Given the description of an element on the screen output the (x, y) to click on. 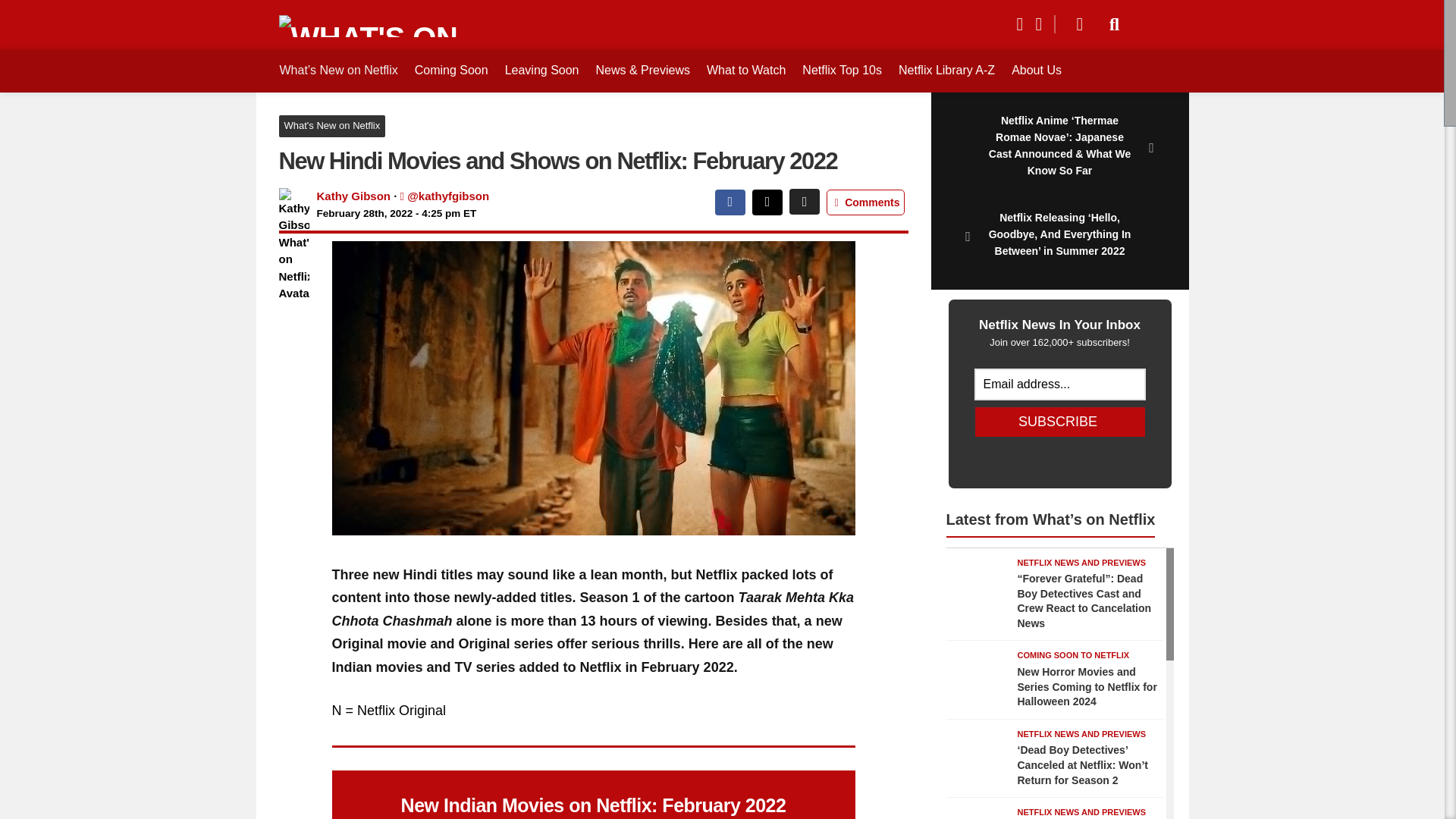
COMING SOON TO NETFLIX (1073, 655)
Search What's on Netflix (1114, 24)
Netflix Top 10s (842, 70)
What's New on Netflix (332, 126)
Comments (865, 202)
Leaving Soon (541, 70)
Posts by Kathy Gibson (354, 195)
Subscribe to What's on Netflix (1073, 24)
NETFLIX NEWS AND PREVIEWS (1082, 562)
